Given the description of an element on the screen output the (x, y) to click on. 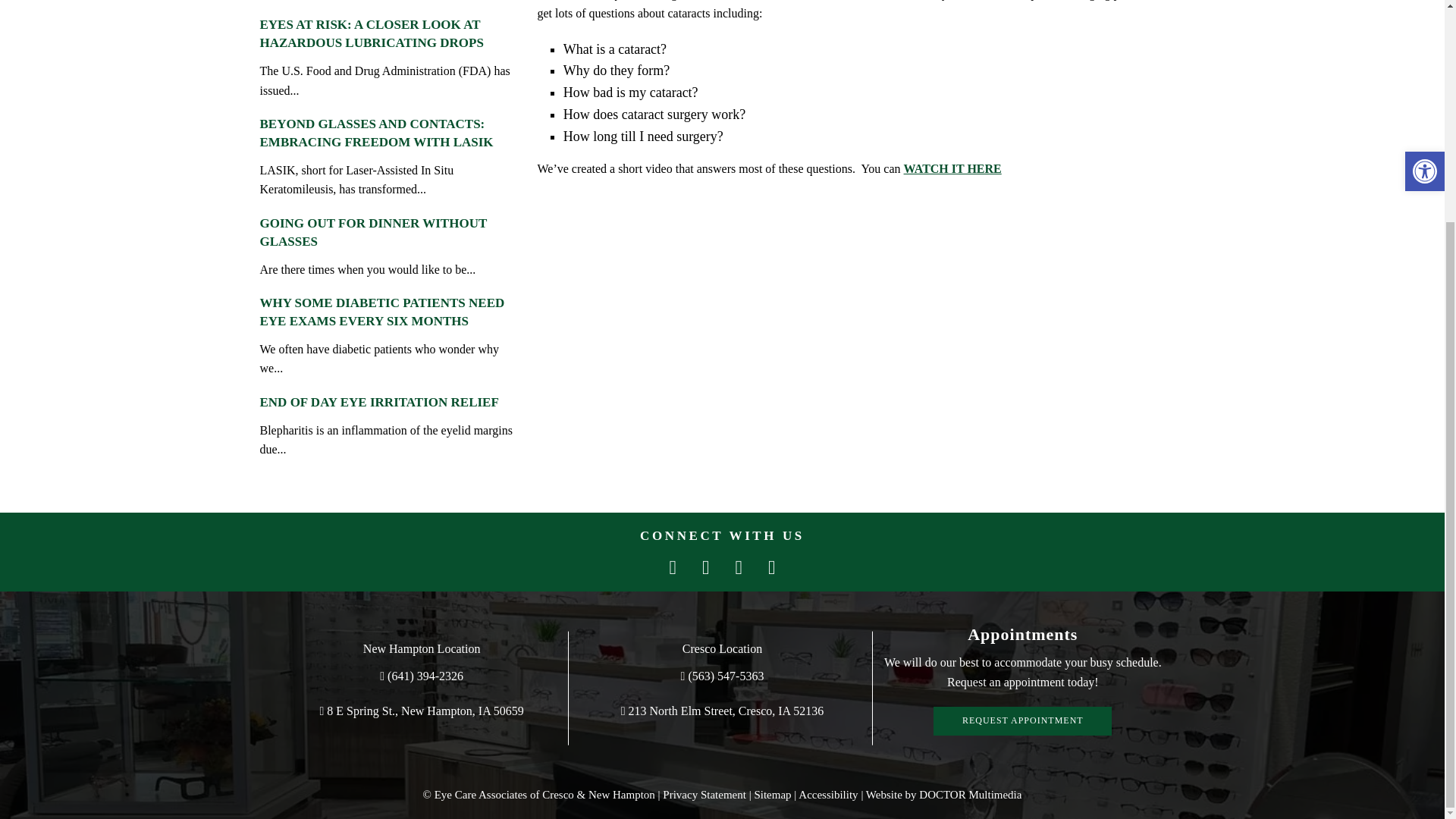
GOING OUT FOR DINNER WITHOUT GLASSES (372, 232)
BEYOND GLASSES AND CONTACTS: EMBRACING FREEDOM WITH LASIK (376, 133)
EYES AT RISK: A CLOSER LOOK AT HAZARDOUS LUBRICATING DROPS (371, 33)
